Given the description of an element on the screen output the (x, y) to click on. 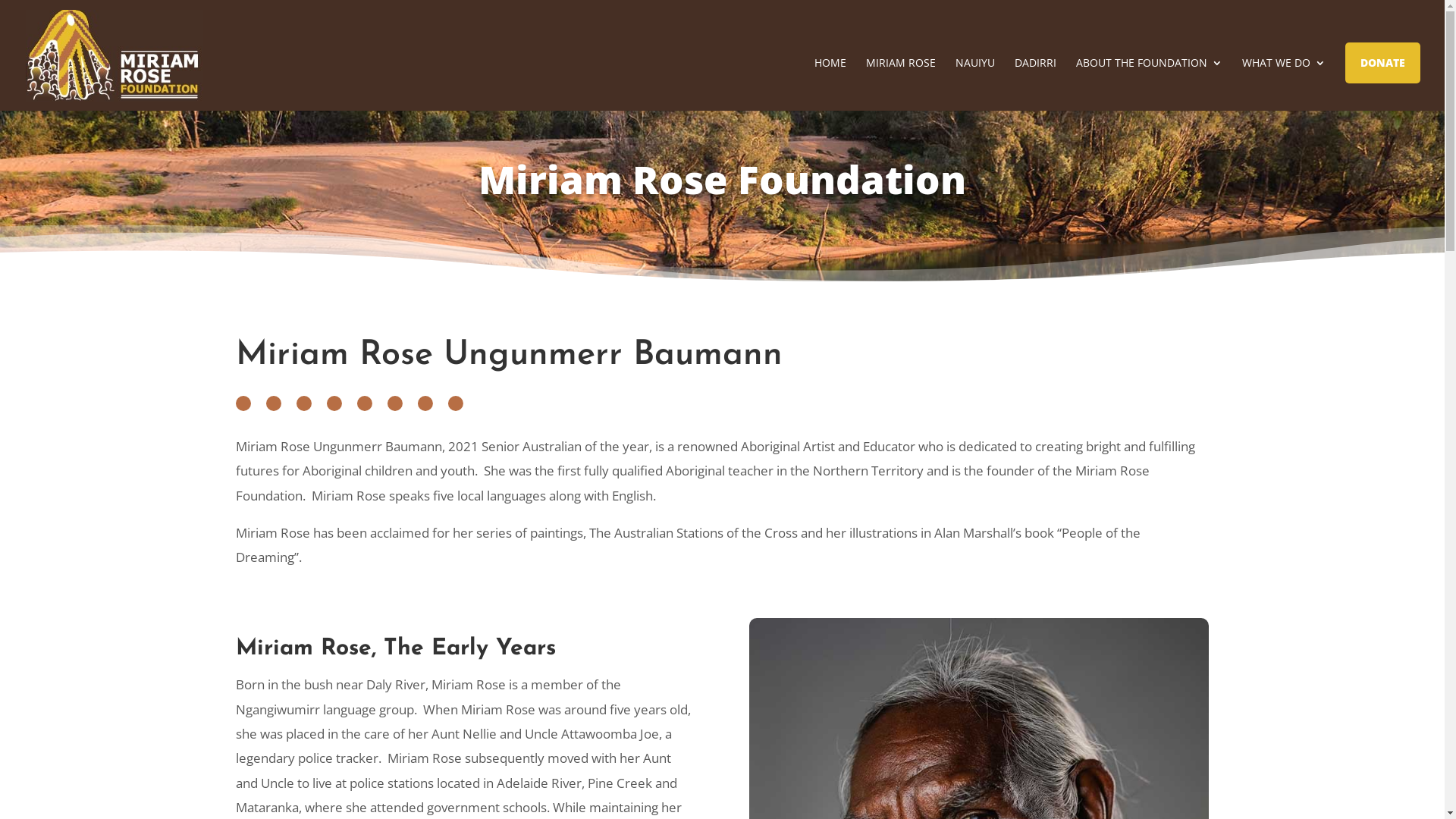
DONATE Element type: text (1382, 62)
WHAT WE DO Element type: text (1283, 83)
ABOUT THE FOUNDATION Element type: text (1149, 83)
MIRIAM ROSE Element type: text (900, 83)
DADIRRI Element type: text (1035, 83)
HOME Element type: text (830, 83)
NAUIYU Element type: text (974, 83)
